Given the description of an element on the screen output the (x, y) to click on. 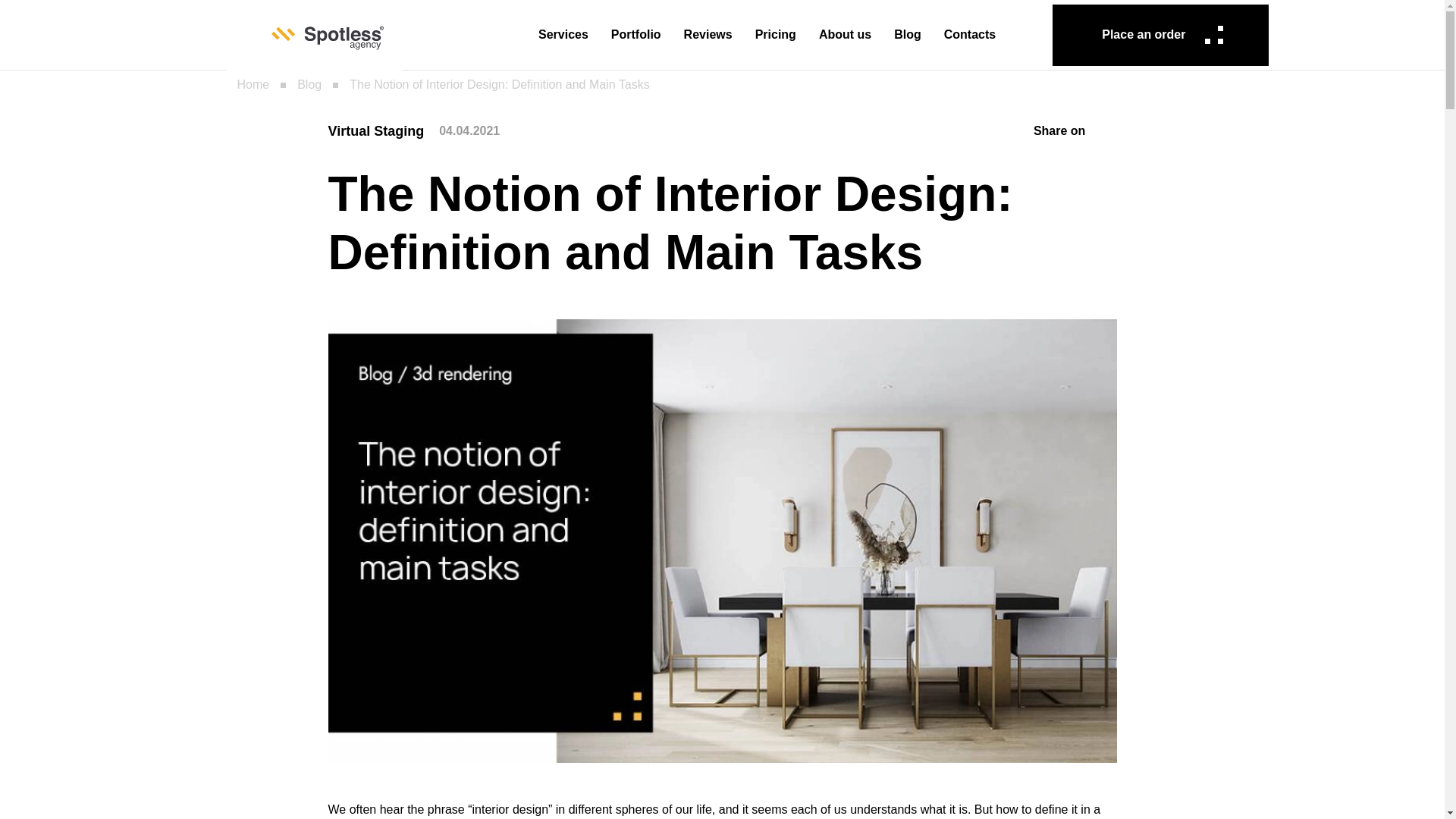
Reviews (708, 35)
Blog (317, 85)
Virtual Staging (375, 130)
Contacts (970, 35)
About us (845, 35)
The Notion of Interior Design: Definition and Main Tasks (507, 85)
Home (260, 85)
Place an order (1160, 35)
Pricing (776, 35)
Services (563, 35)
